Given the description of an element on the screen output the (x, y) to click on. 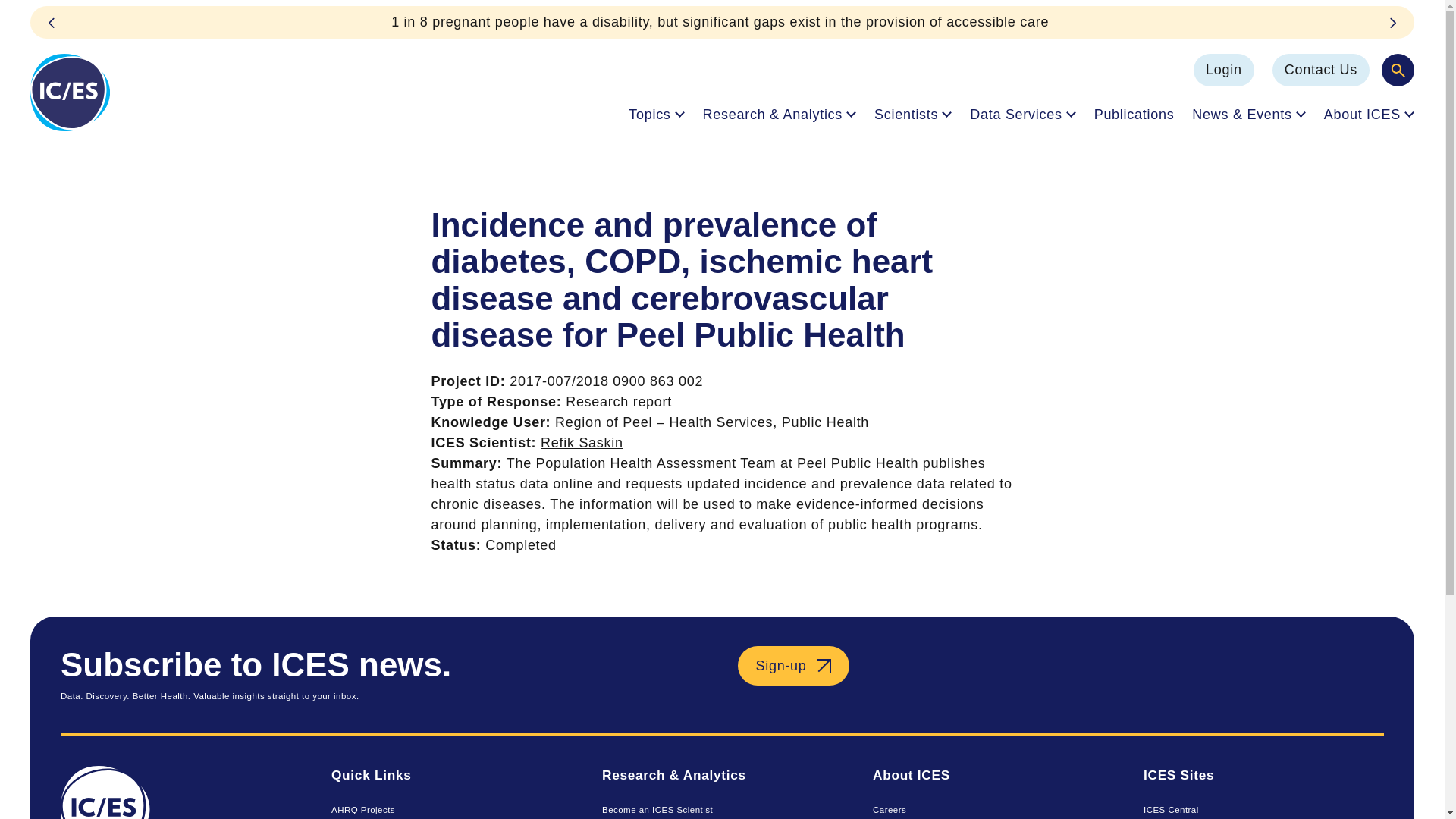
Contact Us (1321, 70)
ICES (181, 792)
Login (1223, 70)
Topics (656, 114)
ICES (70, 92)
